Given the description of an element on the screen output the (x, y) to click on. 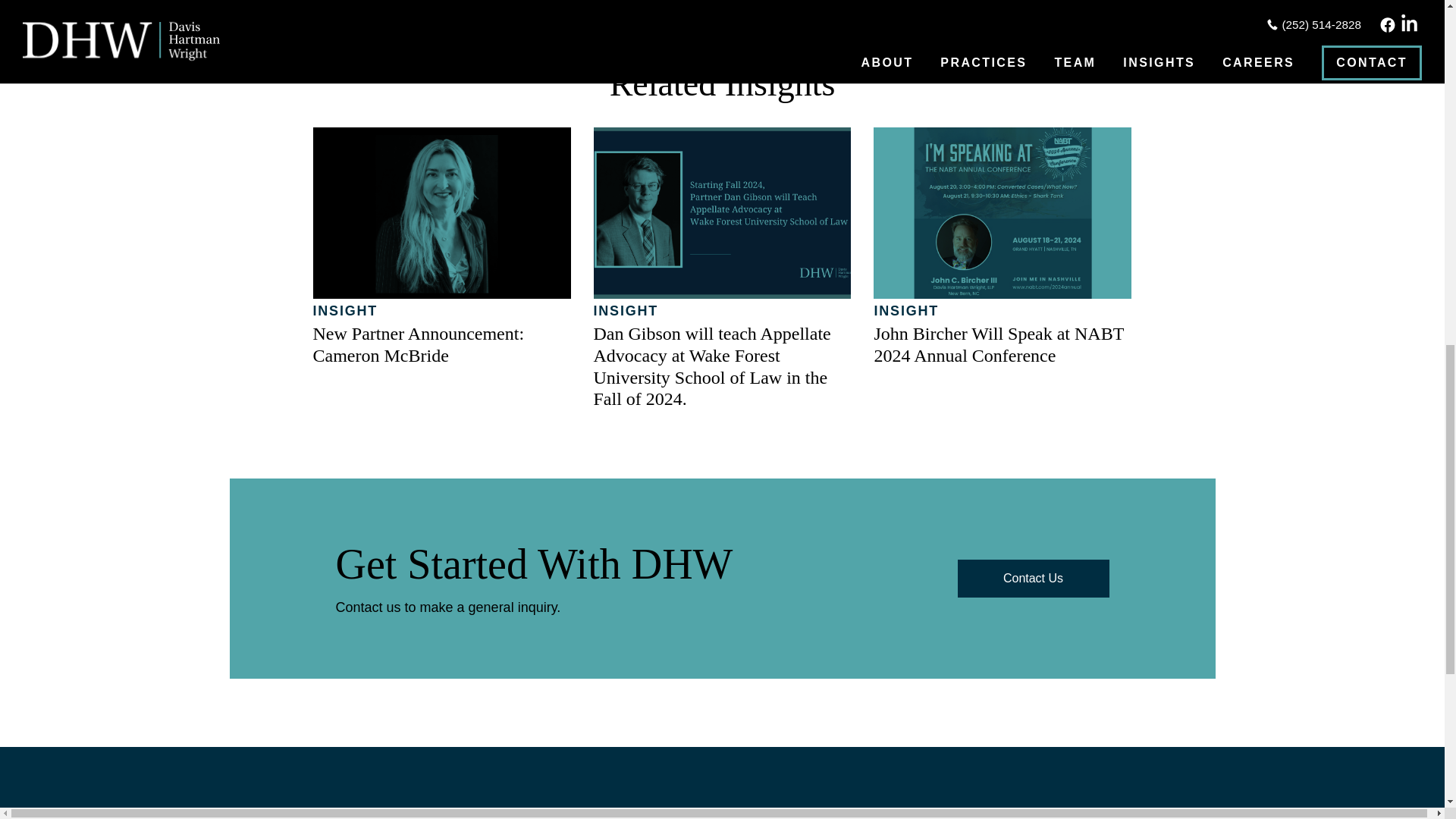
Contact Us (1032, 578)
John Bircher Will Speak at NABT 2024 Annual Conference (997, 344)
New Partner Announcement: Cameron McBride (418, 344)
